Given the description of an element on the screen output the (x, y) to click on. 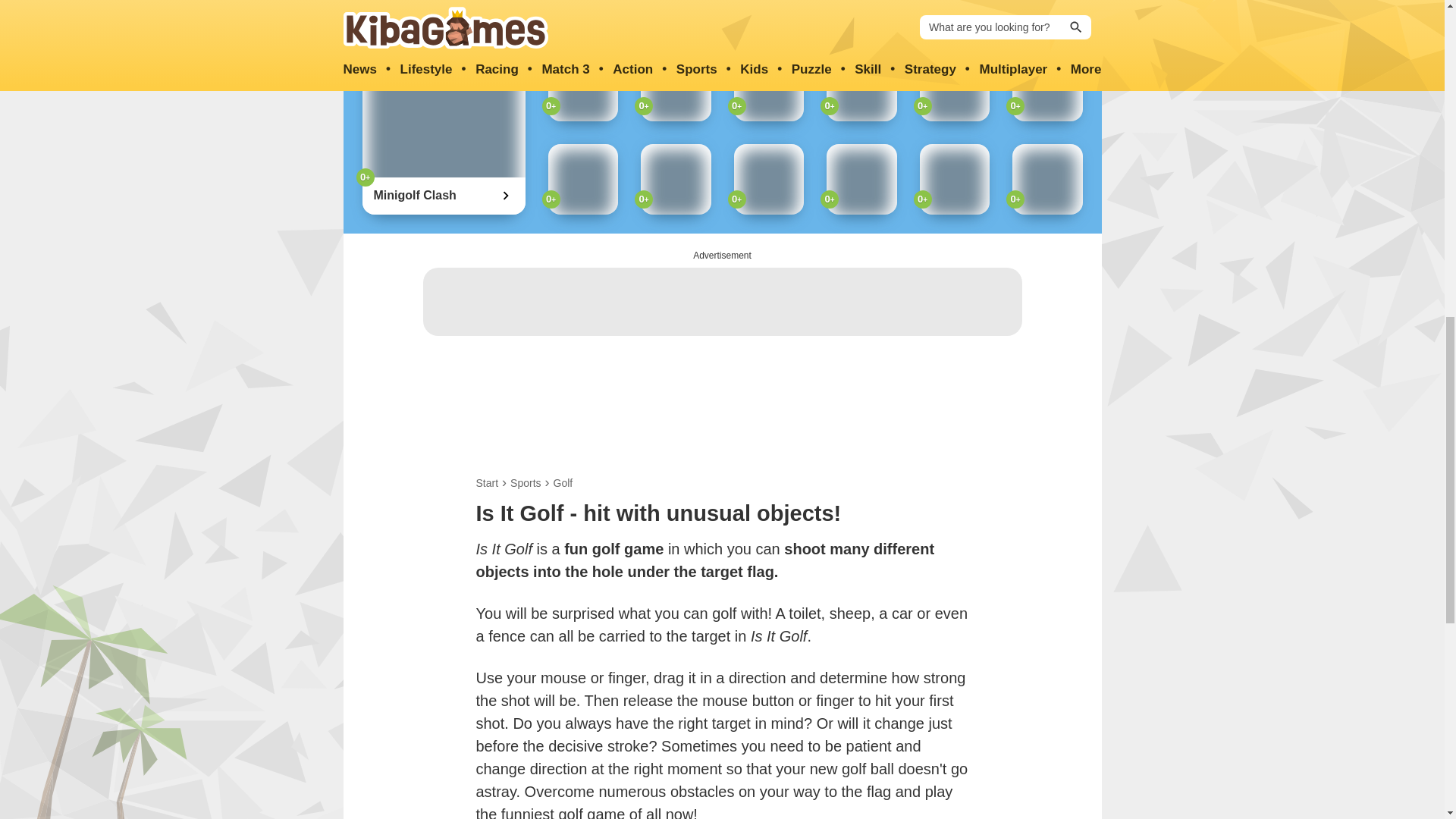
Golf (563, 482)
Start (487, 482)
Sports (525, 482)
Sports (525, 482)
Start (487, 482)
Minigolf Clash (413, 195)
Minigolf Clash (413, 195)
